Given the description of an element on the screen output the (x, y) to click on. 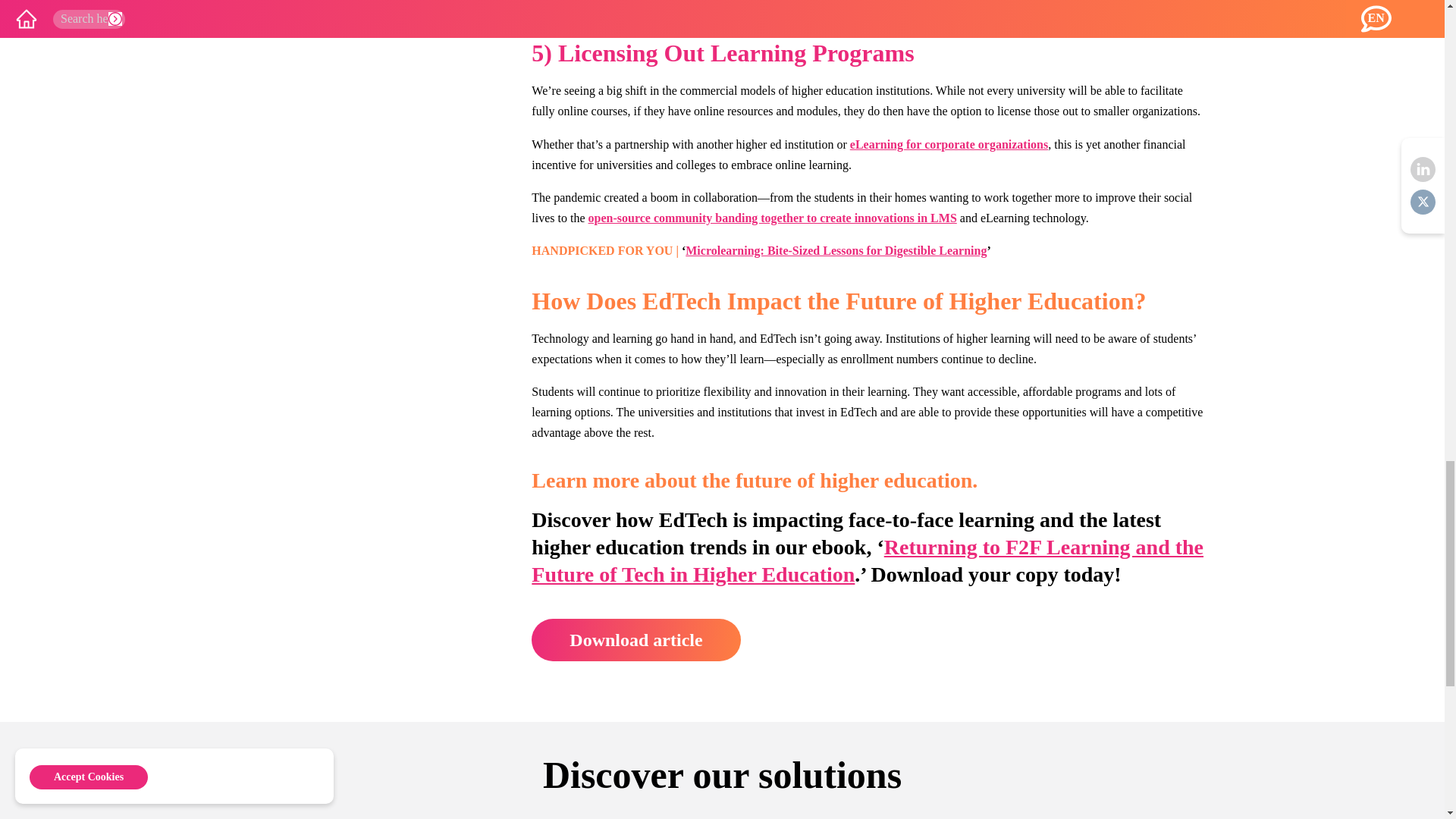
Download article (635, 639)
eLearning for corporate organizations (949, 144)
Microlearning: Bite-Sized Lessons for Digestible Learning (836, 250)
